Given the description of an element on the screen output the (x, y) to click on. 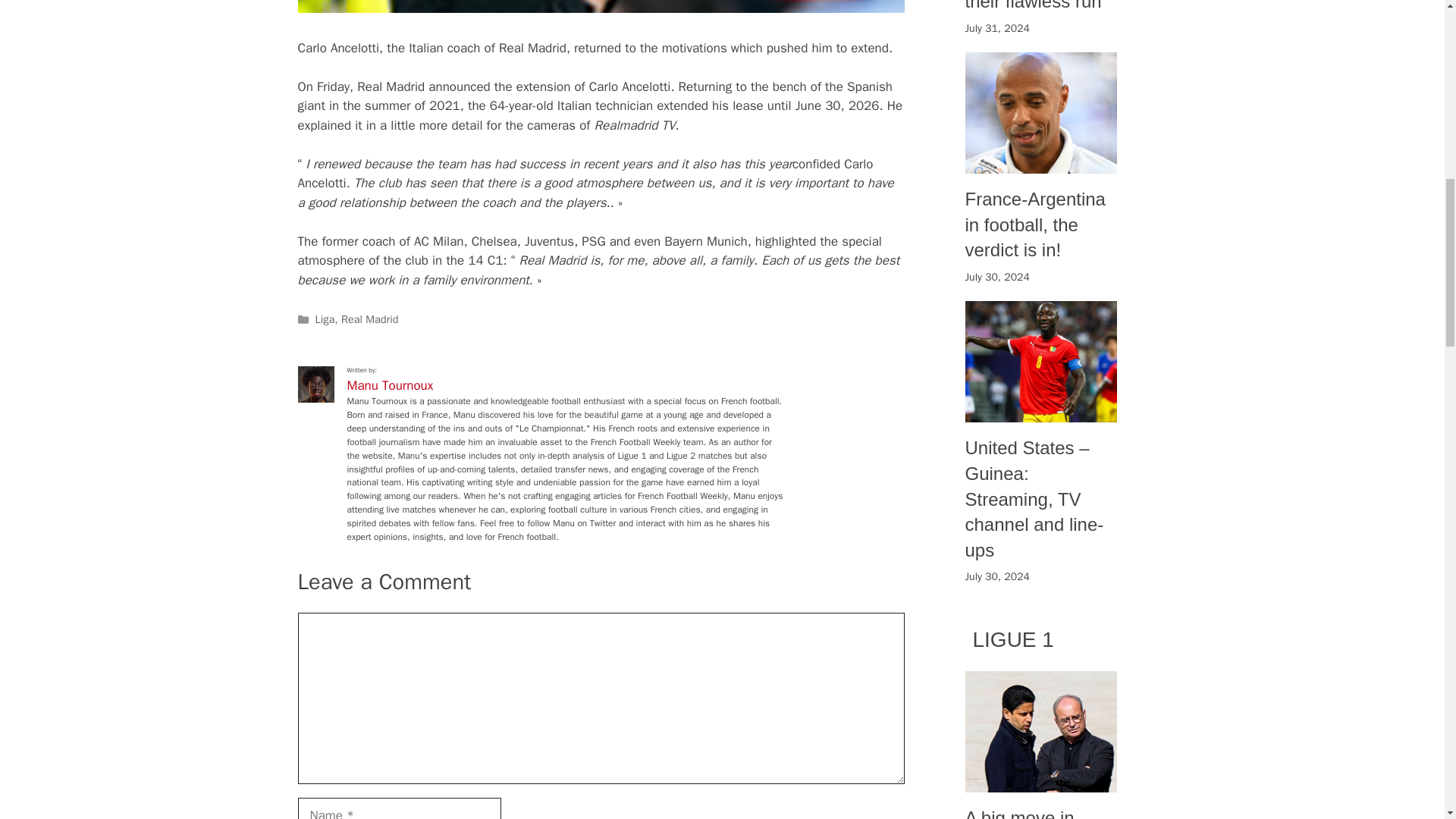
Scroll back to top (1406, 720)
